Given the description of an element on the screen output the (x, y) to click on. 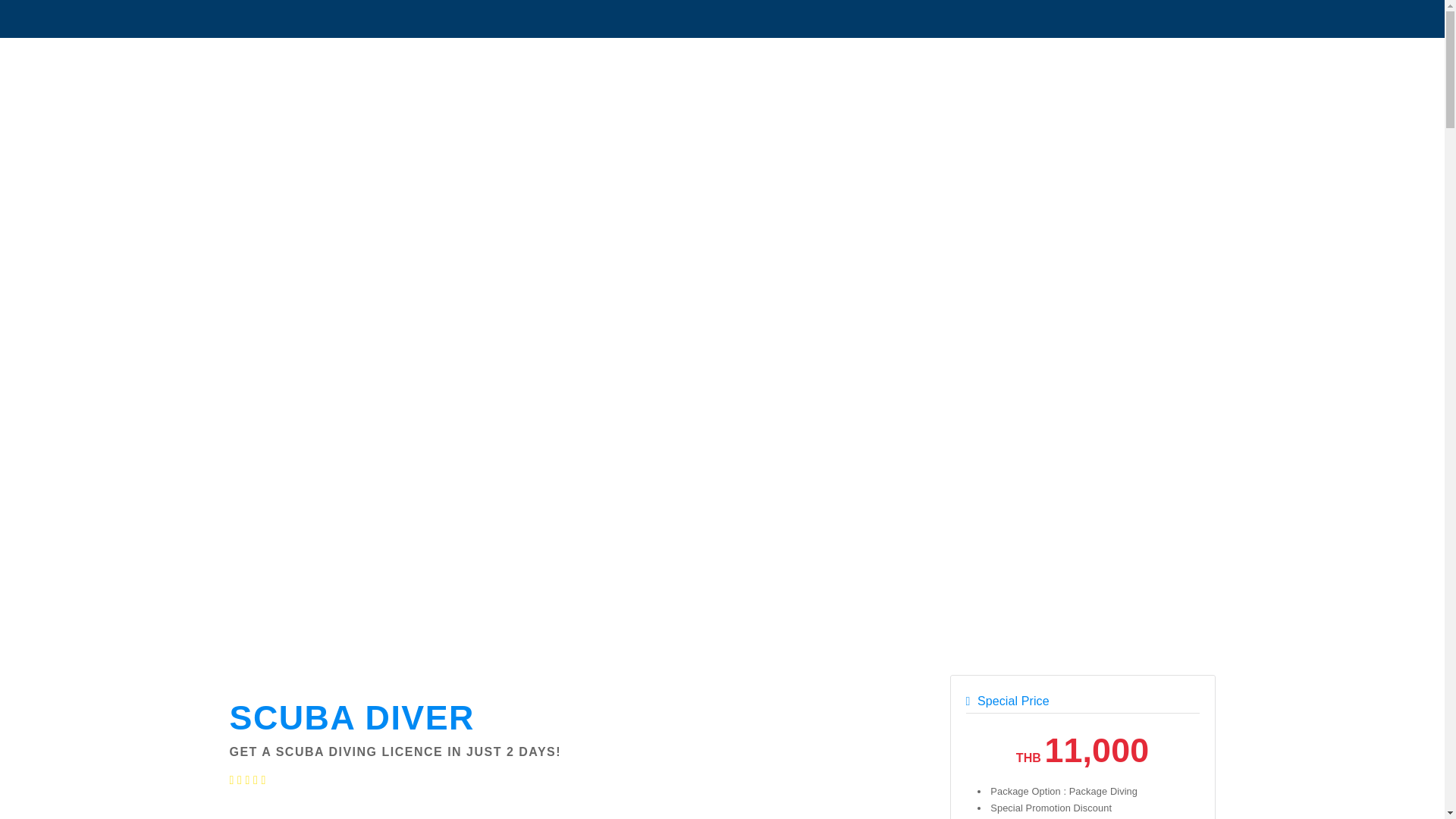
Make a Booking (287, 812)
Gallery (753, 812)
How to Use (521, 812)
Package Details (404, 812)
Location (637, 812)
